Given the description of an element on the screen output the (x, y) to click on. 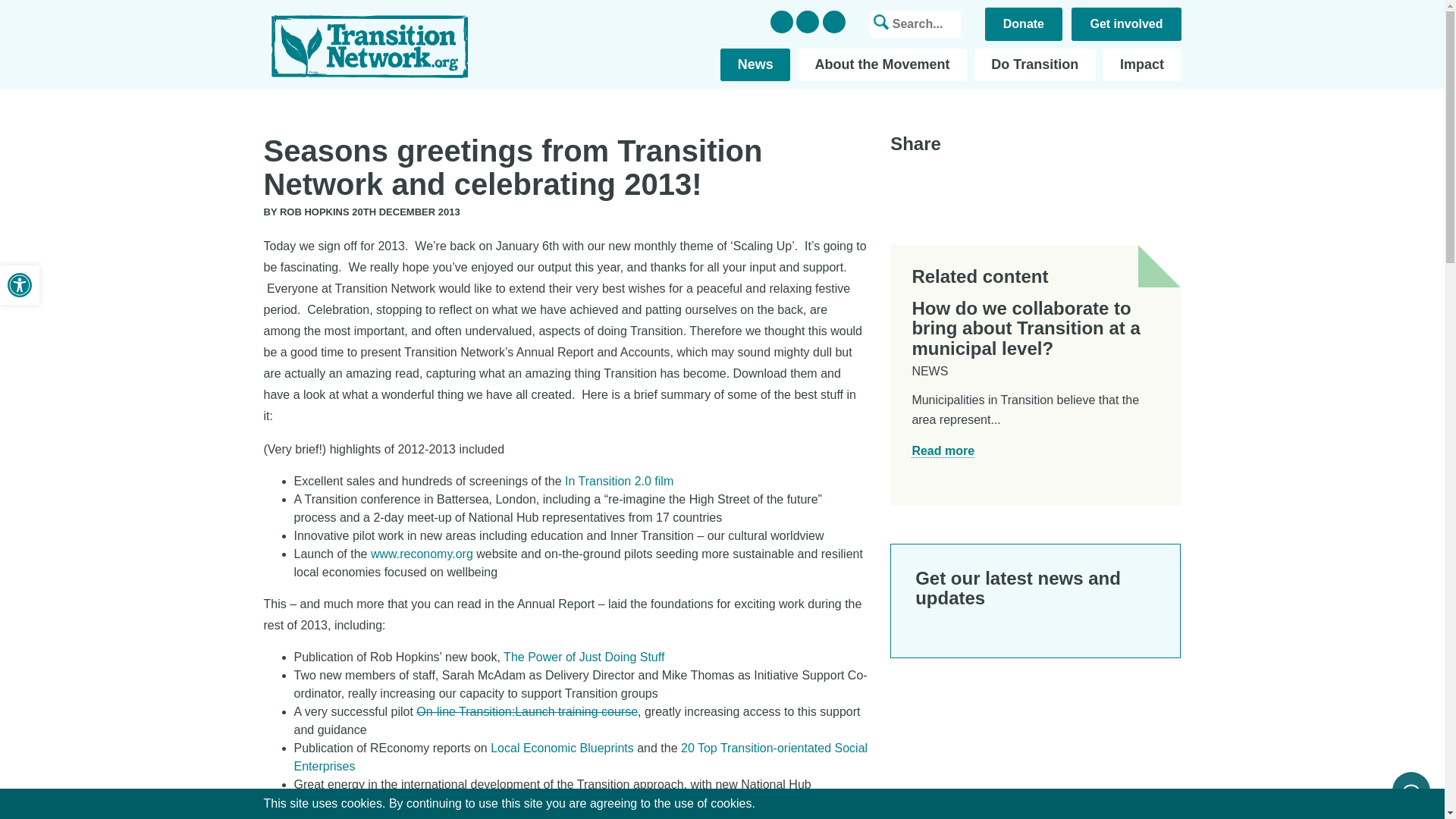
News (755, 64)
About the Movement (881, 64)
Donate (1023, 23)
Transition Network (369, 46)
Search (34, 16)
Accessibility Tools (19, 284)
